Given the description of an element on the screen output the (x, y) to click on. 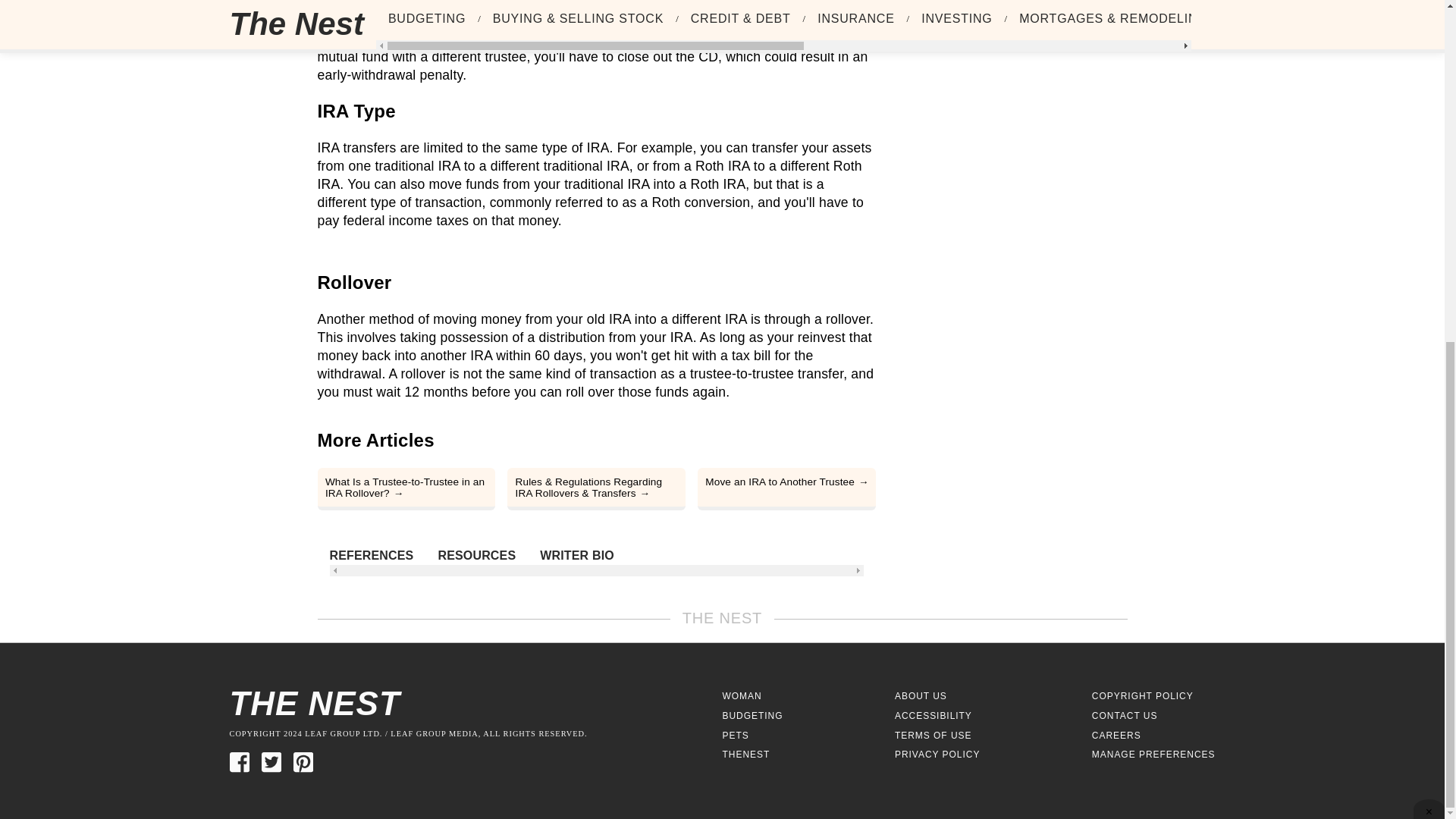
TERMS OF USE (933, 735)
WOMAN (741, 696)
BUDGETING (752, 715)
PETS (735, 735)
COPYRIGHT POLICY (1142, 696)
THE NEST (475, 703)
ABOUT US (921, 696)
CONTACT US (1124, 715)
PRIVACY POLICY (937, 754)
THENEST (746, 754)
ACCESSIBILITY (933, 715)
